Given the description of an element on the screen output the (x, y) to click on. 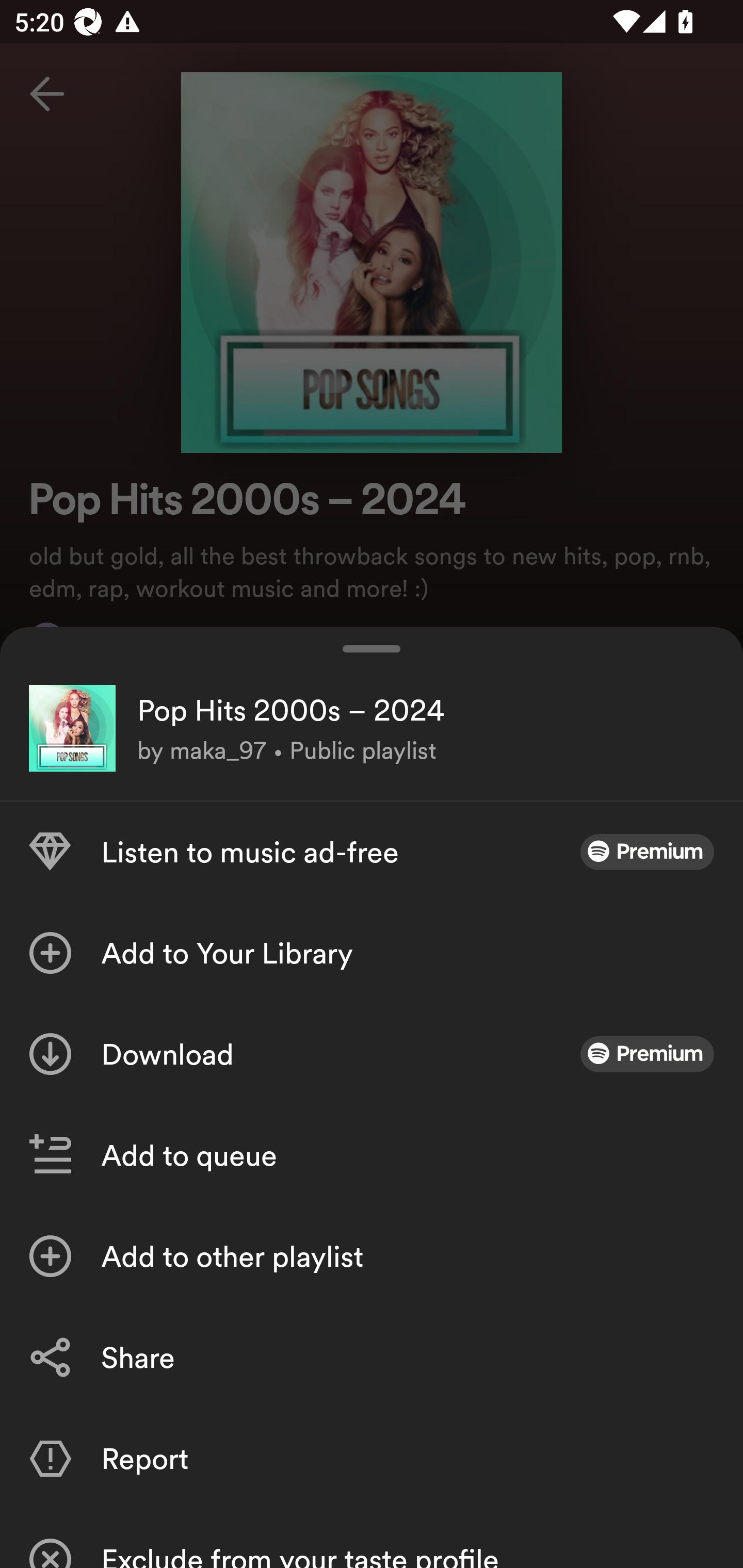
Listen to music ad-free (371, 852)
Add to Your Library (371, 953)
Download (371, 1054)
Add to queue (371, 1155)
Add to other playlist (371, 1256)
Share (371, 1357)
Report (371, 1458)
Exclude from your taste profile (371, 1538)
